Given the description of an element on the screen output the (x, y) to click on. 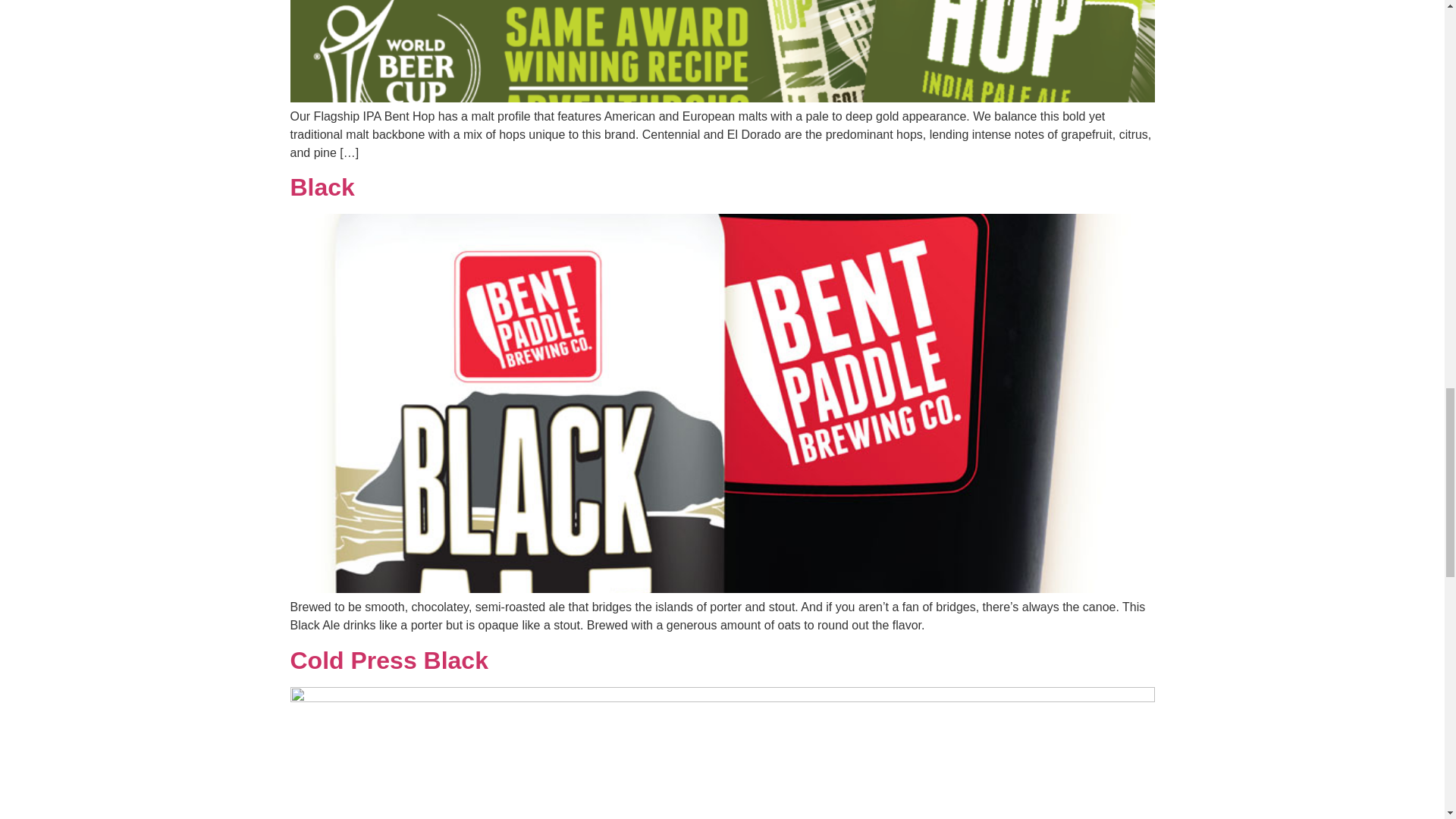
Black (321, 186)
Cold Press Black (388, 660)
